Given the description of an element on the screen output the (x, y) to click on. 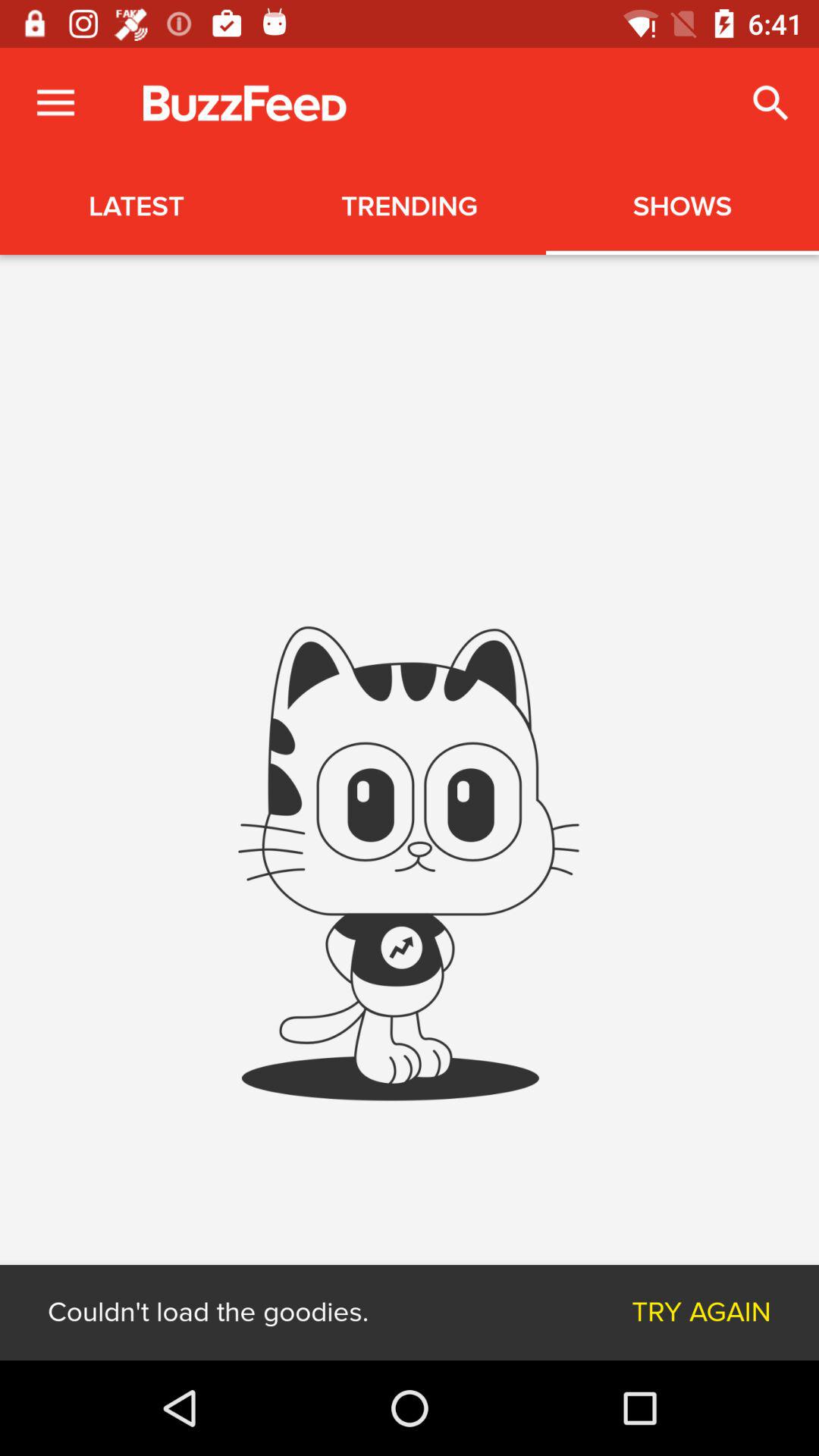
click icon above the latest icon (55, 103)
